Given the description of an element on the screen output the (x, y) to click on. 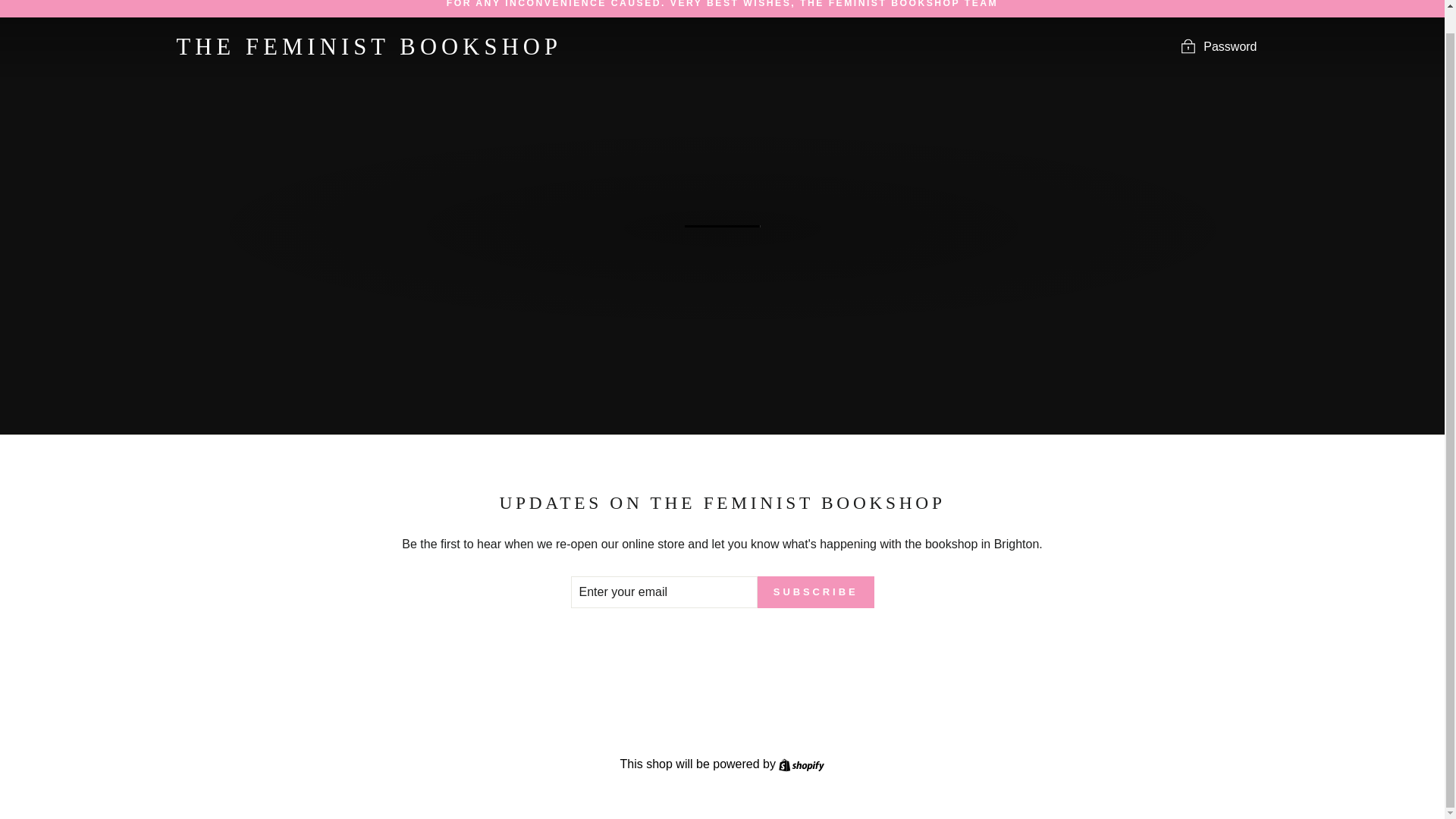
Shopify (801, 763)
SUBSCRIBE (816, 592)
Create your own online store with Shopify (801, 763)
